Given the description of an element on the screen output the (x, y) to click on. 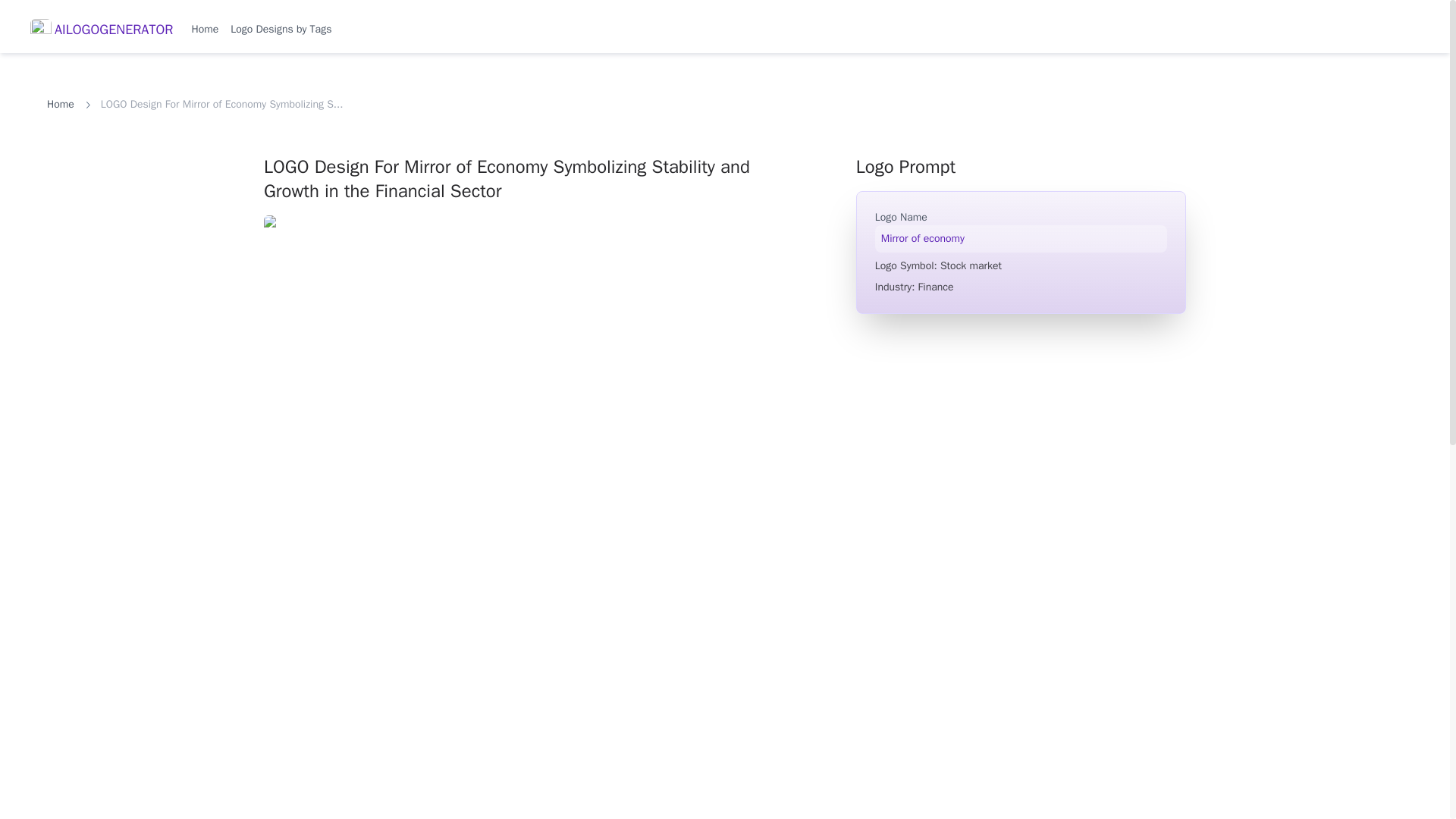
Logo Designs by Tags (280, 29)
Home (60, 104)
AILOGOGENERATOR (101, 29)
Home (204, 29)
